Given the description of an element on the screen output the (x, y) to click on. 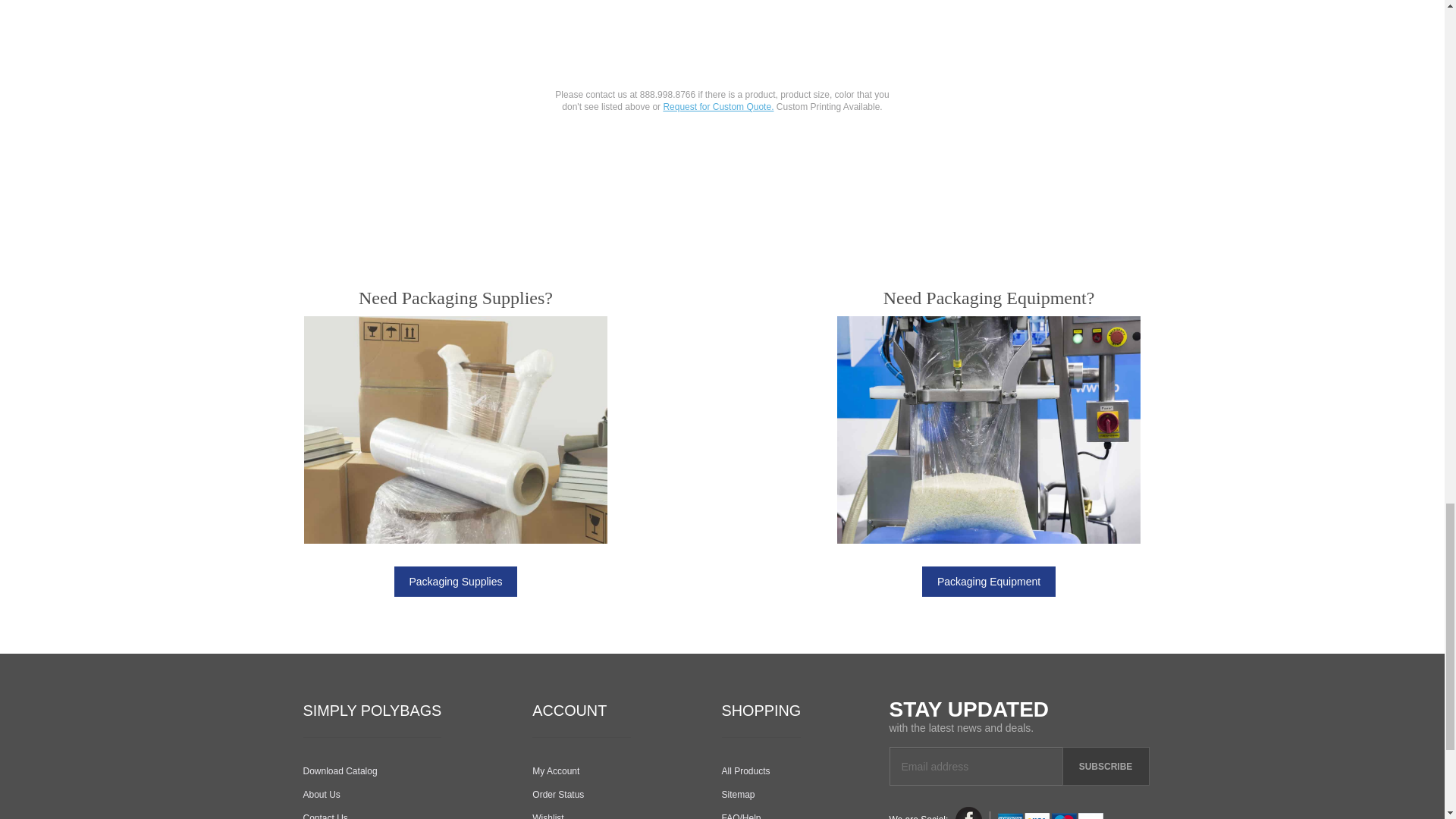
SUBSCRIBE (1104, 765)
